Given the description of an element on the screen output the (x, y) to click on. 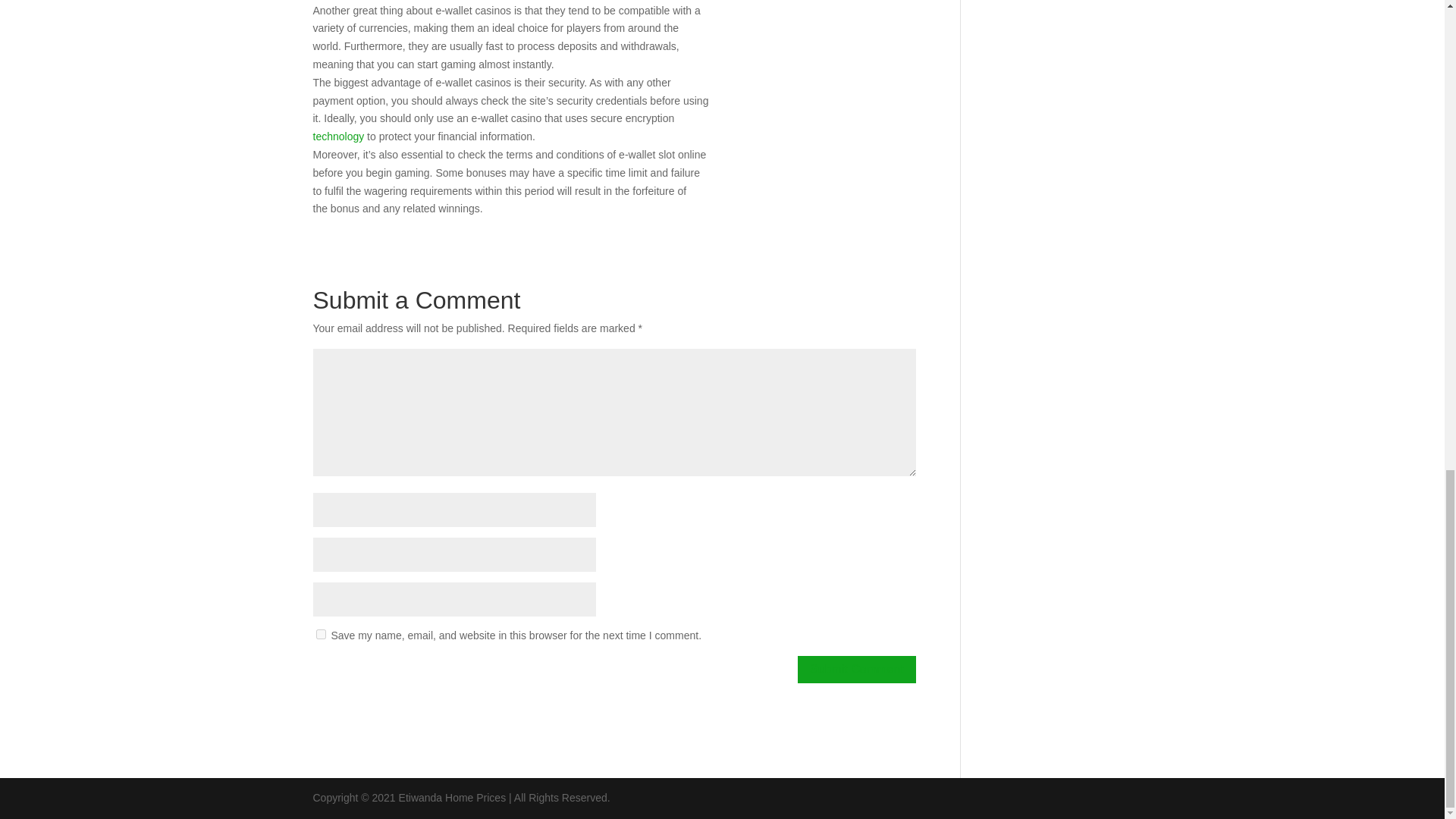
Submit Comment (856, 669)
technology (338, 136)
yes (319, 634)
Submit Comment (856, 669)
